Given the description of an element on the screen output the (x, y) to click on. 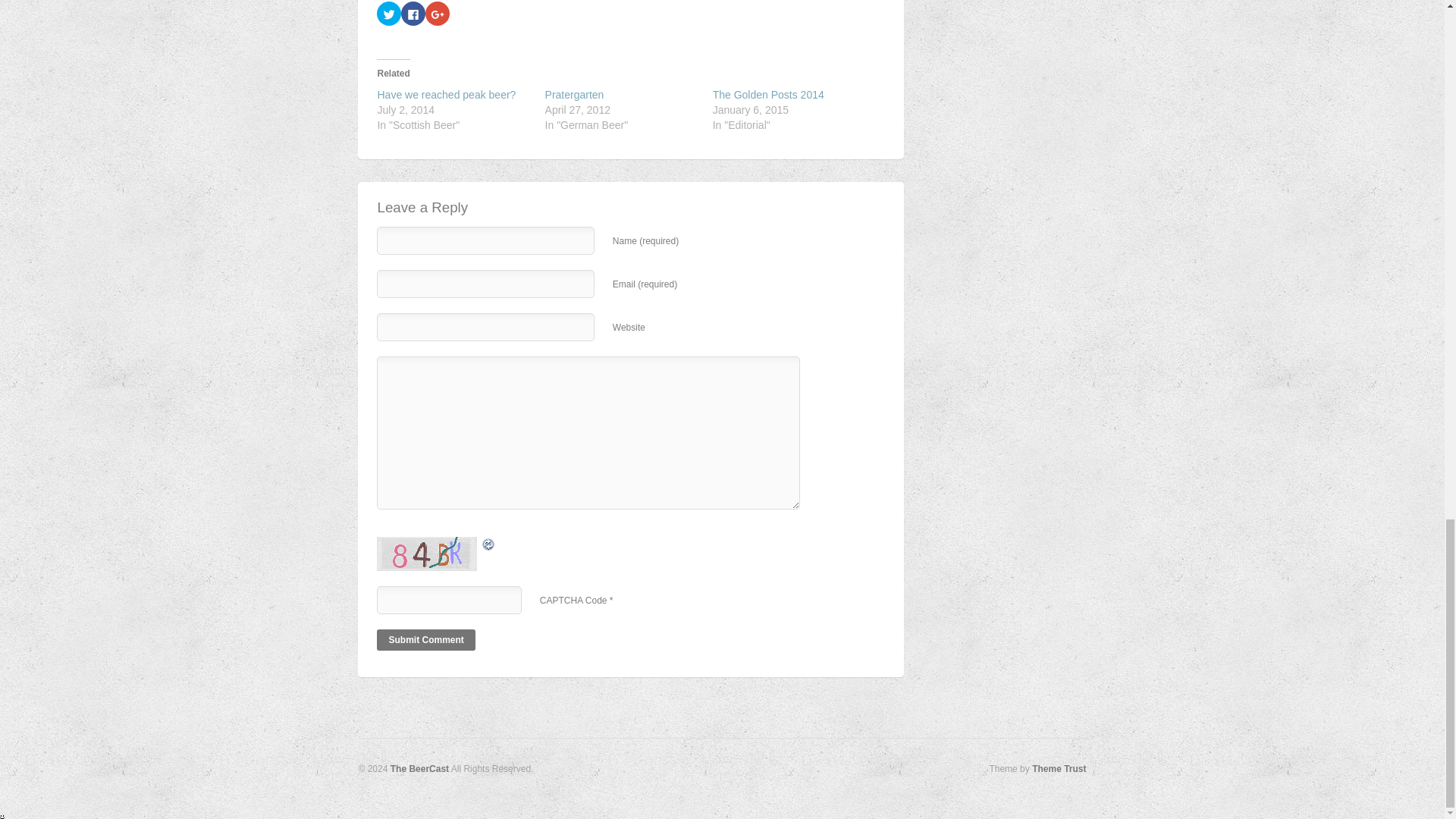
The BeerCast (419, 768)
Have we reached peak beer? (446, 94)
Submit Comment (425, 639)
The Golden Posts 2014 (768, 94)
Refresh (443, 544)
Click to share on Twitter (389, 13)
Theme Trust (1059, 768)
Theme Trust (1059, 768)
Submit Comment (425, 639)
CAPTCHA (428, 553)
Click to share on Facebook (413, 13)
The Golden Posts 2014 (768, 94)
Pratergarten (574, 94)
